Given the description of an element on the screen output the (x, y) to click on. 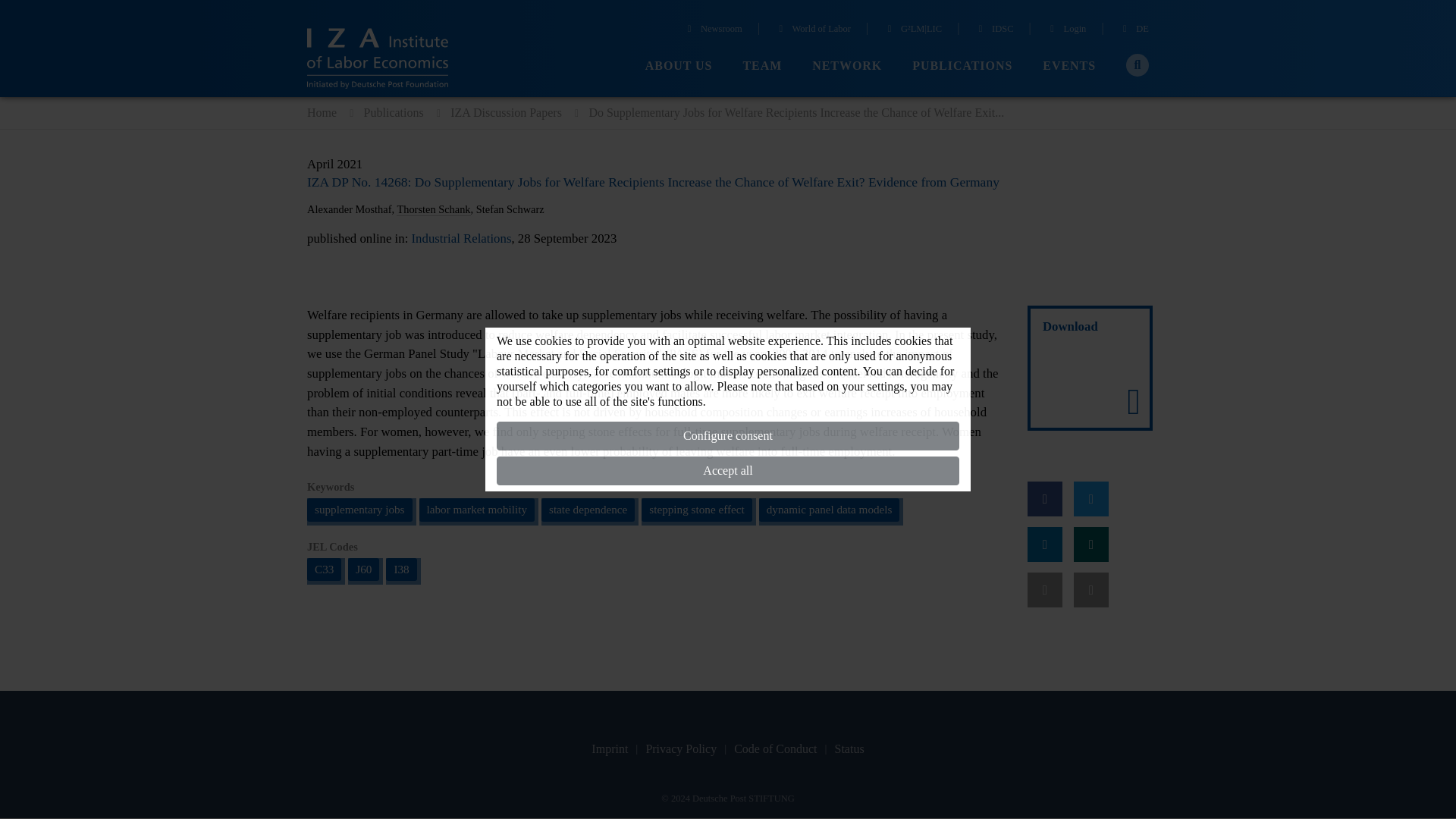
DE (1133, 30)
World of Labor (812, 30)
TEAM (761, 66)
PUBLICATIONS (961, 66)
Login (1066, 30)
Newsroom (712, 30)
EVENTS (1069, 66)
NETWORK (847, 66)
ABOUT US (679, 66)
IDSC (993, 30)
